Given the description of an element on the screen output the (x, y) to click on. 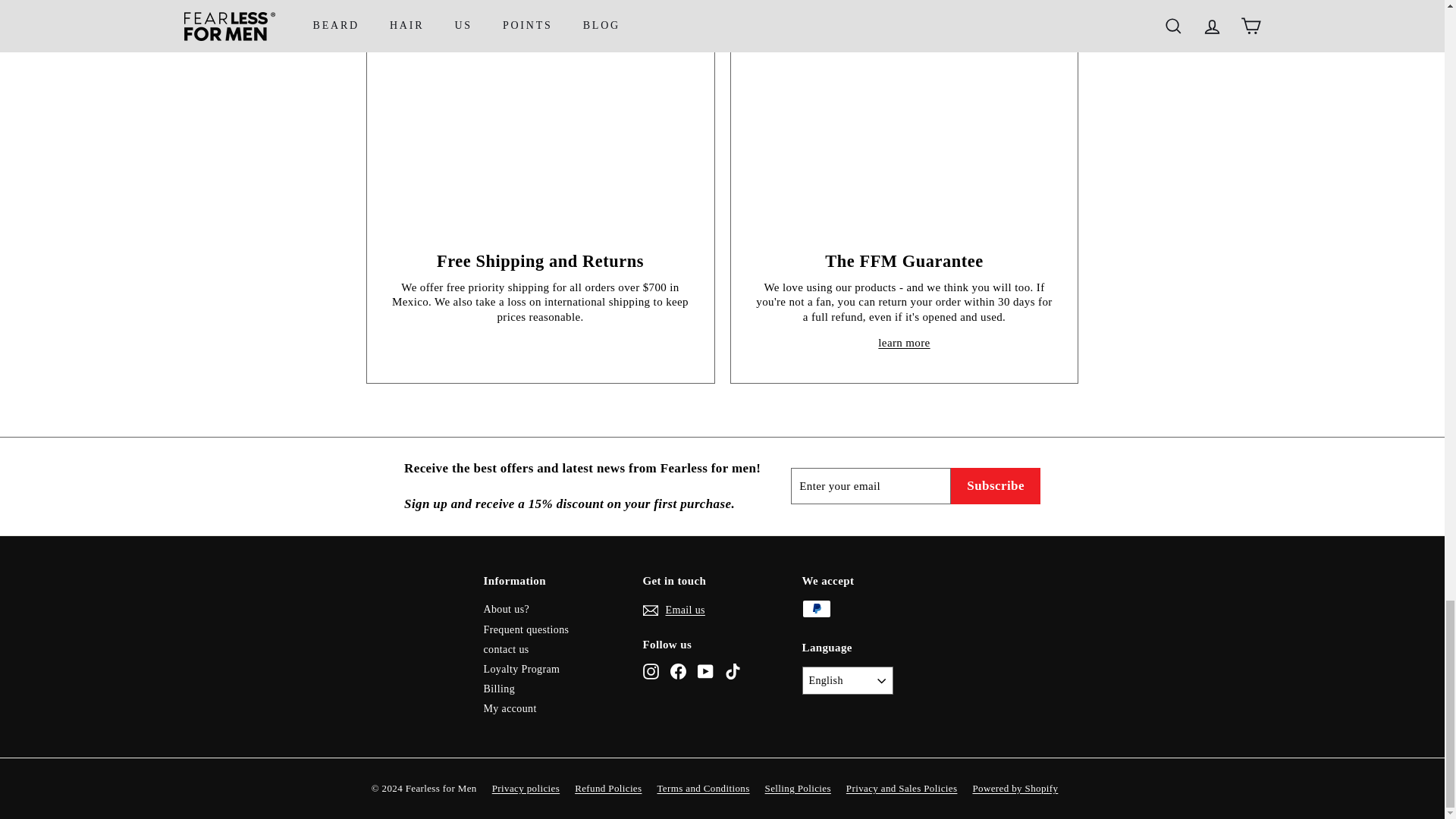
Fearless for Men on YouTube (705, 671)
Fearless for Men on Instagram (651, 671)
Fearless for Men on TikTok (733, 671)
Fearless for Men on Facebook (677, 671)
PayPal (816, 608)
FFM Guarantee (903, 342)
